Given the description of an element on the screen output the (x, y) to click on. 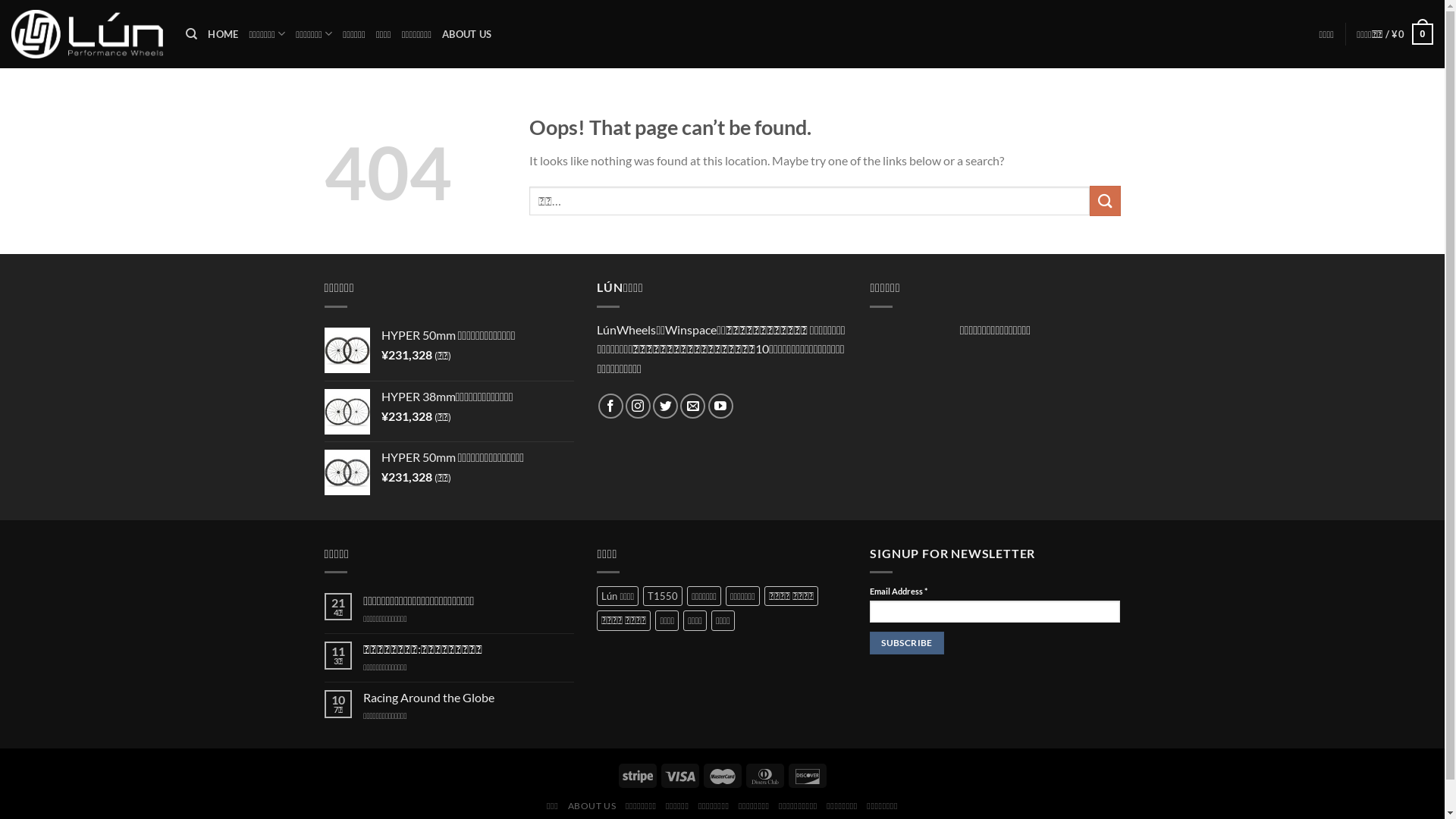
Subscribe Element type: text (906, 642)
Racing Around the Globe Element type: text (468, 697)
ABOUT US Element type: text (591, 805)
ABOUT US Element type: text (466, 33)
T1550 Element type: text (662, 595)
HOME Element type: text (222, 33)
